Given the description of an element on the screen output the (x, y) to click on. 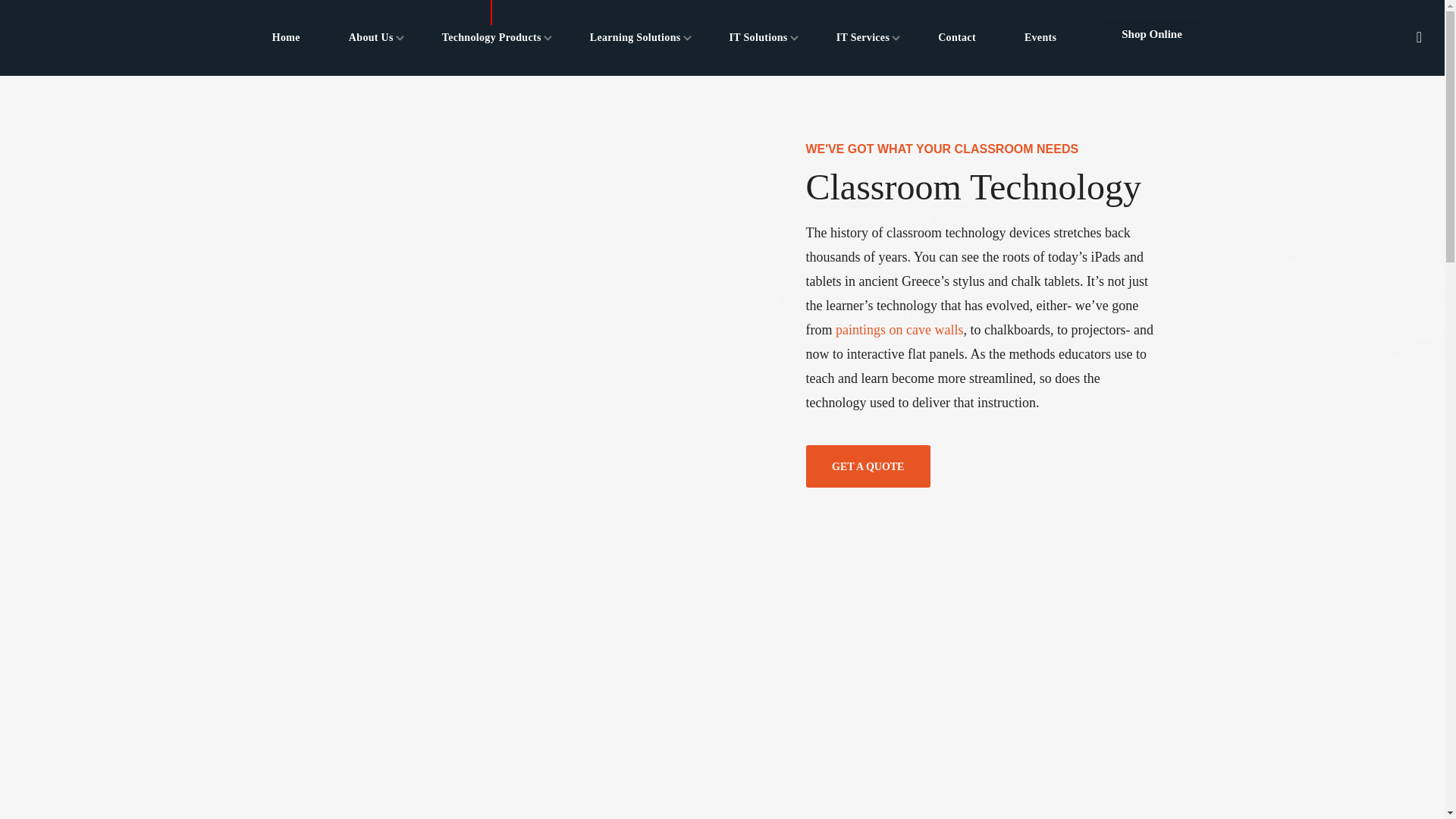
About Us (370, 38)
IT Solutions (758, 38)
Technology Products (491, 38)
Home (285, 38)
IT Services (863, 38)
Learning Solutions (635, 38)
